Given the description of an element on the screen output the (x, y) to click on. 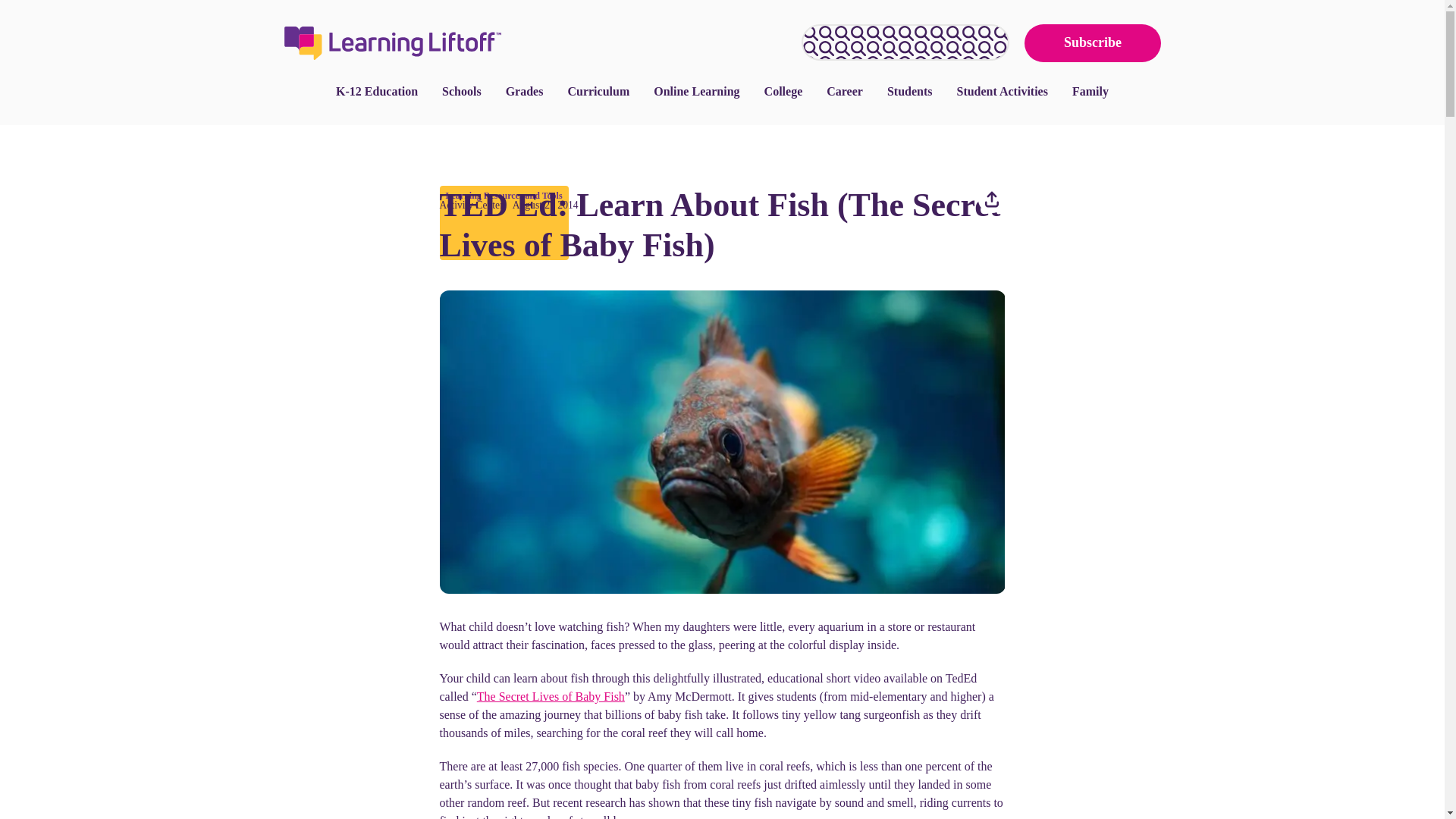
Student Activities (1001, 91)
Curriculum (598, 91)
Online Learning (696, 91)
Family (1090, 91)
Grades (524, 91)
Learning Resources and Tools (503, 195)
Career (844, 91)
College (783, 91)
Schools (461, 91)
